Given the description of an element on the screen output the (x, y) to click on. 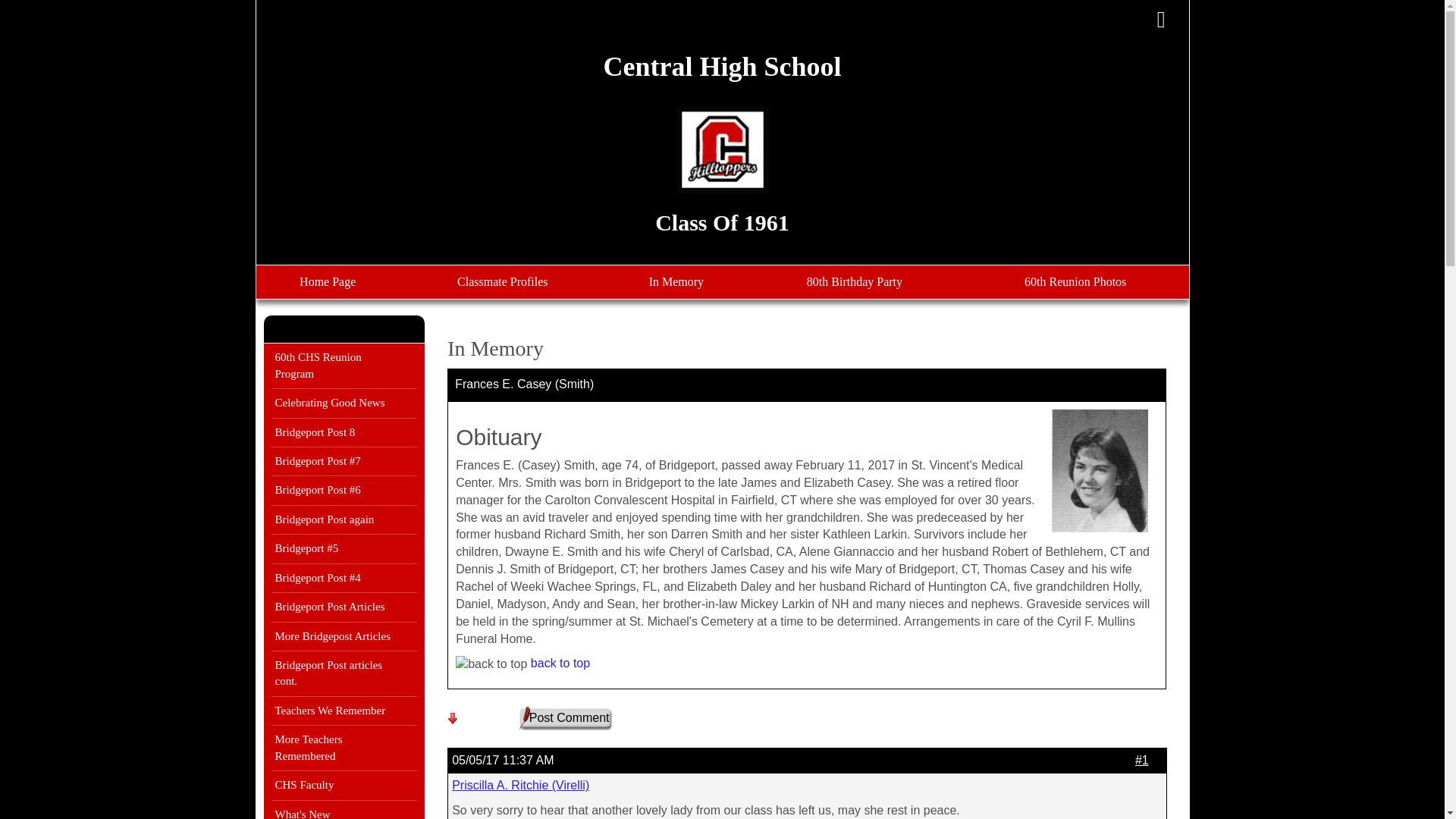
Classmate Login (1160, 20)
